Given the description of an element on the screen output the (x, y) to click on. 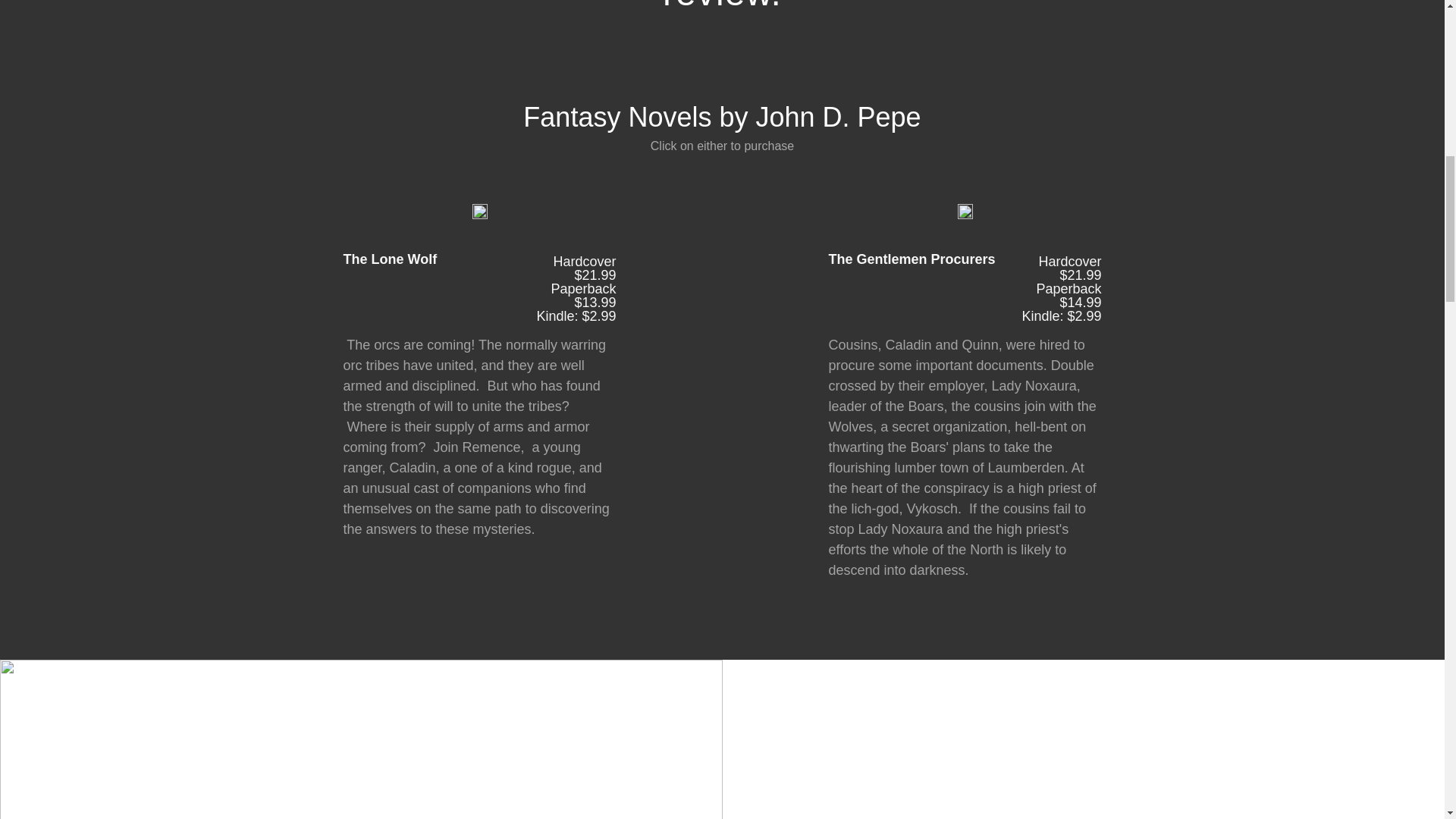
The Lone Wolf (438, 286)
The Gentlemen Procurers (923, 286)
